Given the description of an element on the screen output the (x, y) to click on. 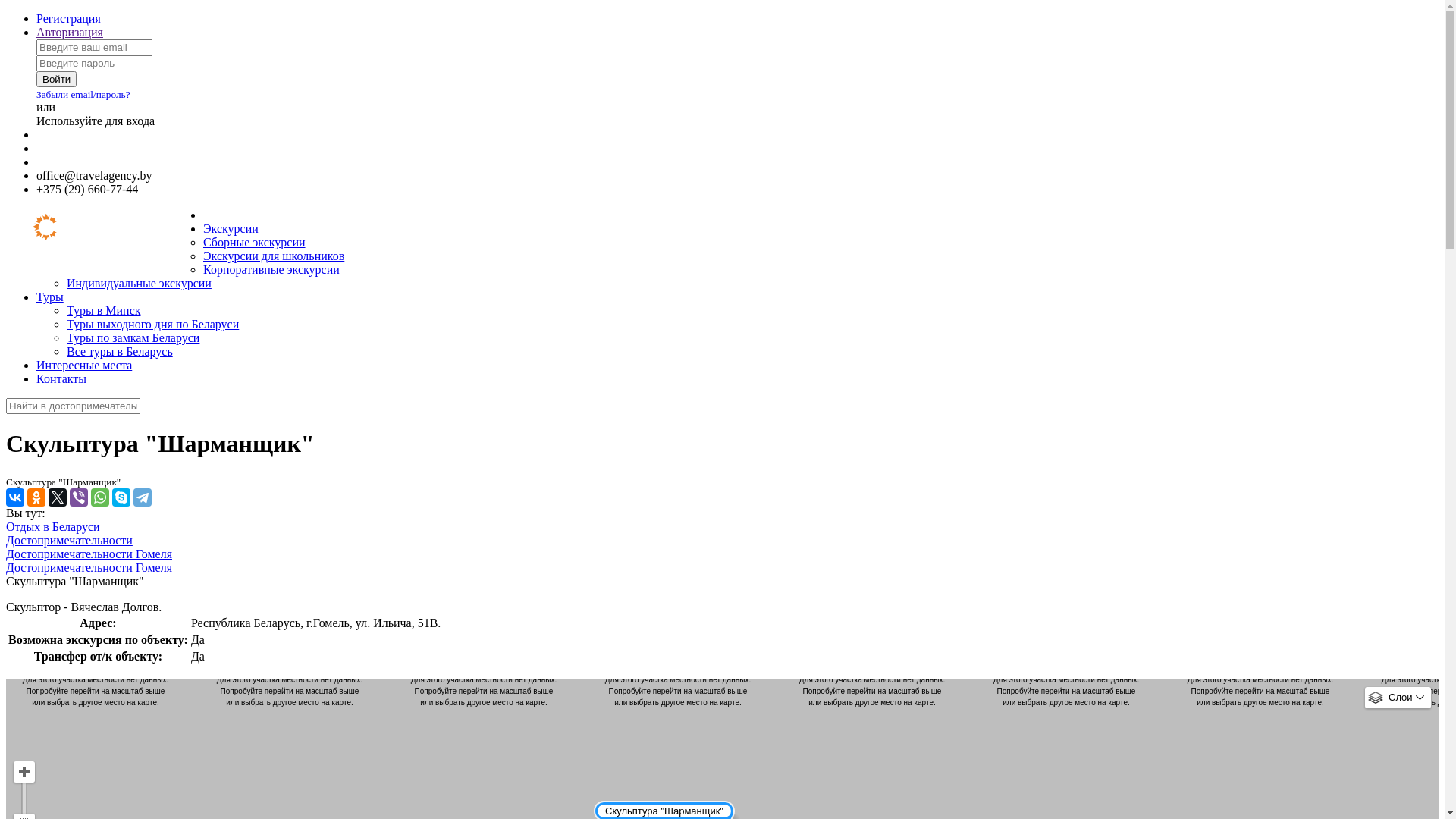
WhatsApp Element type: hover (100, 497)
Skype Element type: hover (121, 497)
Viber Element type: hover (78, 497)
Telegram Element type: hover (142, 497)
Twitter Element type: hover (57, 497)
